Given the description of an element on the screen output the (x, y) to click on. 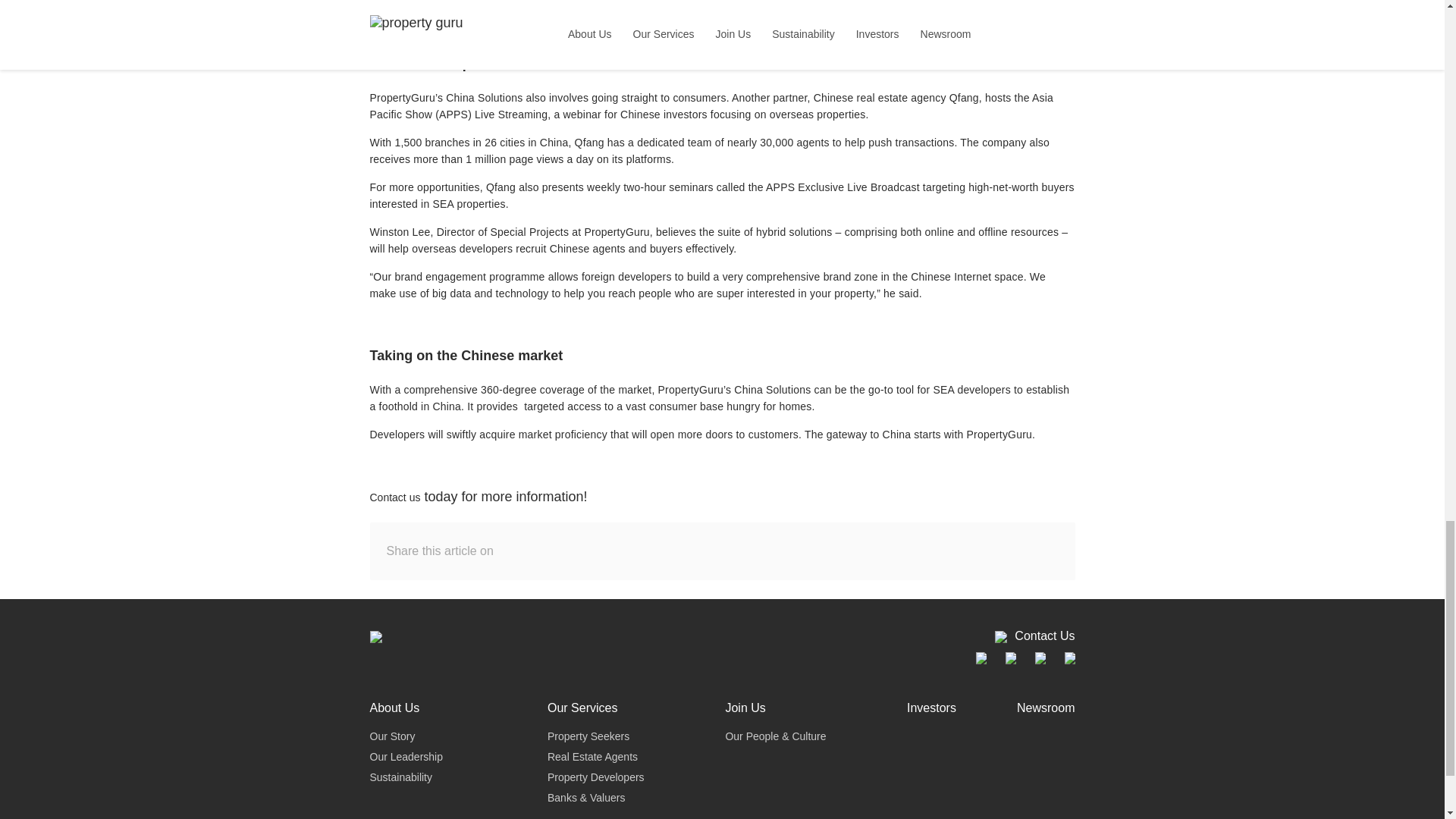
Our Story (391, 736)
Our Leadership (406, 756)
Contact Us (1034, 636)
Contact us (394, 497)
About Us (394, 708)
